Given the description of an element on the screen output the (x, y) to click on. 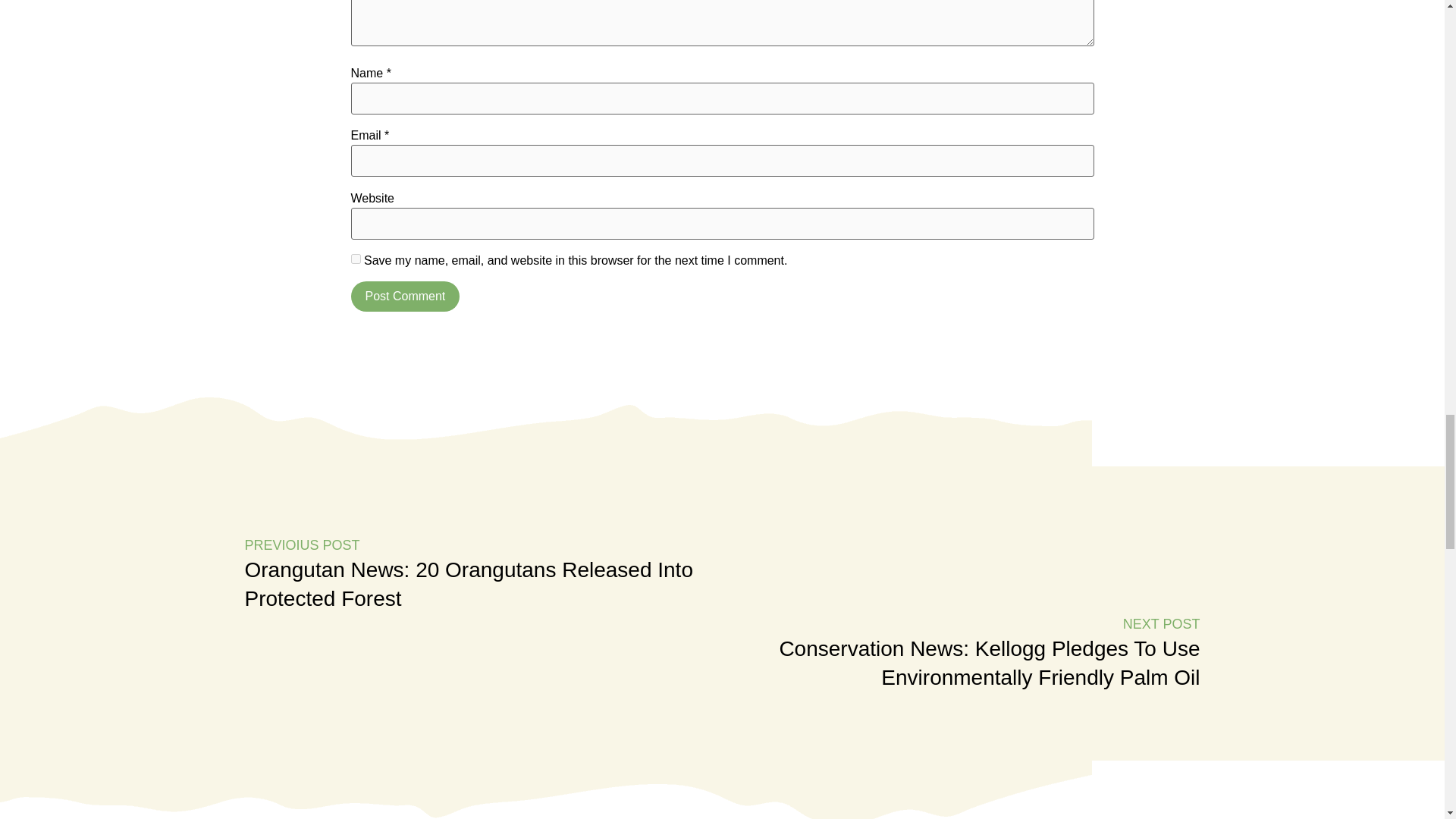
yes (354, 258)
Post Comment (405, 296)
